Given the description of an element on the screen output the (x, y) to click on. 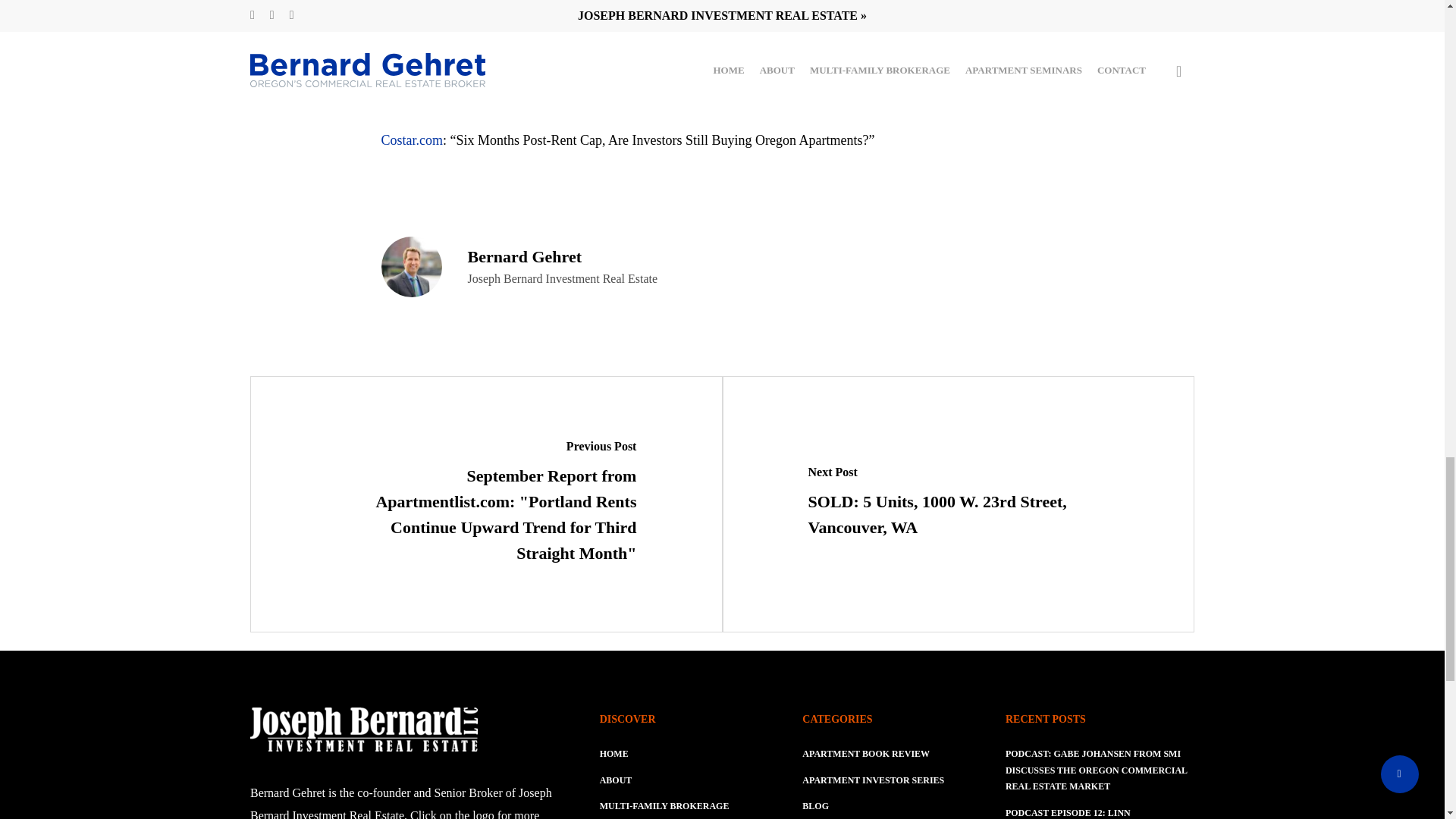
ABOUT (691, 781)
Costar.com (411, 140)
APARTMENT BOOK REVIEW (866, 754)
APARTMENT INVESTOR SERIES (872, 781)
BLOG (815, 806)
MULTI-FAMILY BROKERAGE (691, 806)
Bernard Gehret (523, 256)
HOME (691, 754)
